Given the description of an element on the screen output the (x, y) to click on. 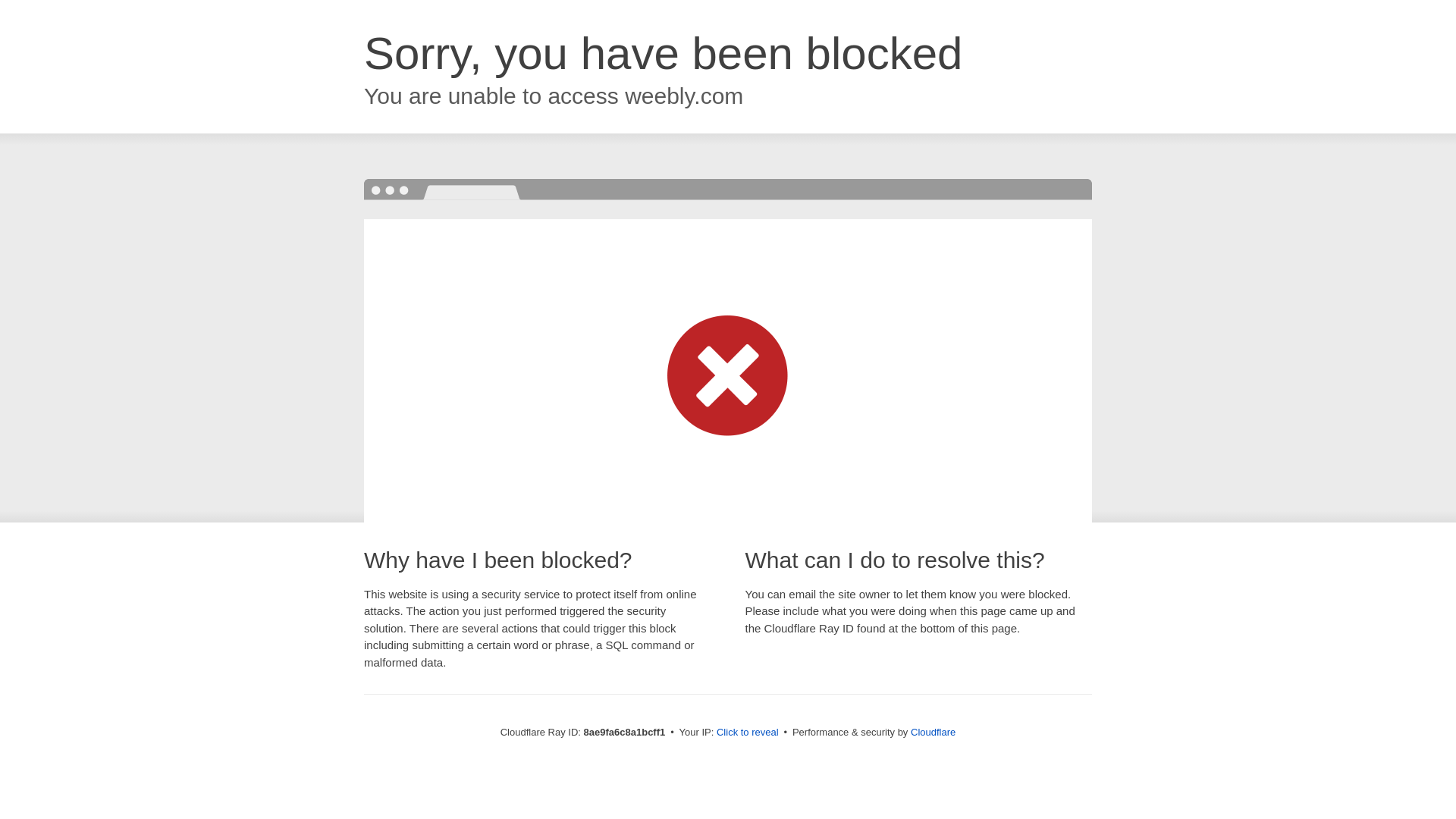
Click to reveal (747, 732)
Cloudflare (933, 731)
